Given the description of an element on the screen output the (x, y) to click on. 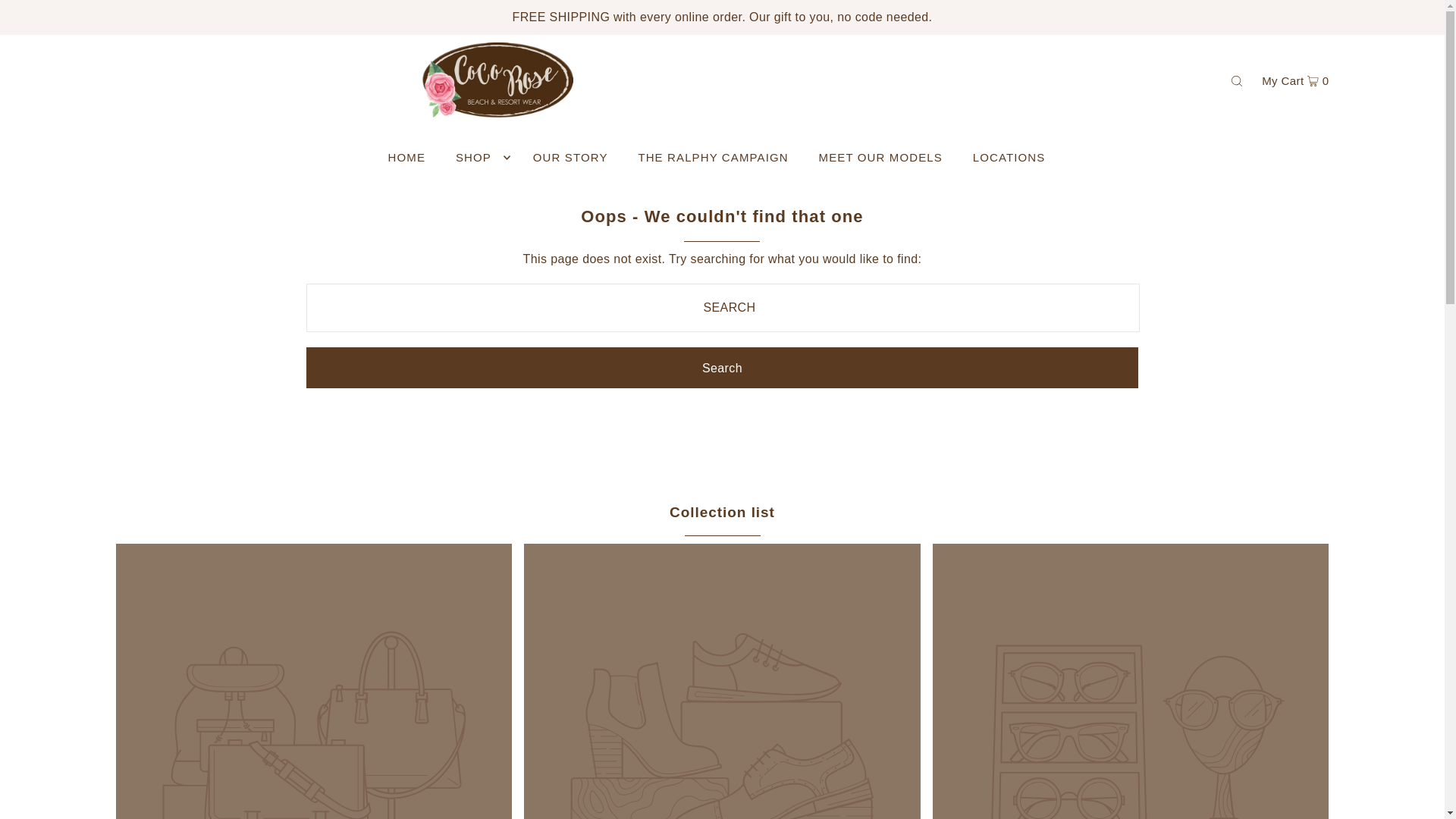
HOME (406, 157)
Search (721, 367)
SHOP (479, 157)
